Given the description of an element on the screen output the (x, y) to click on. 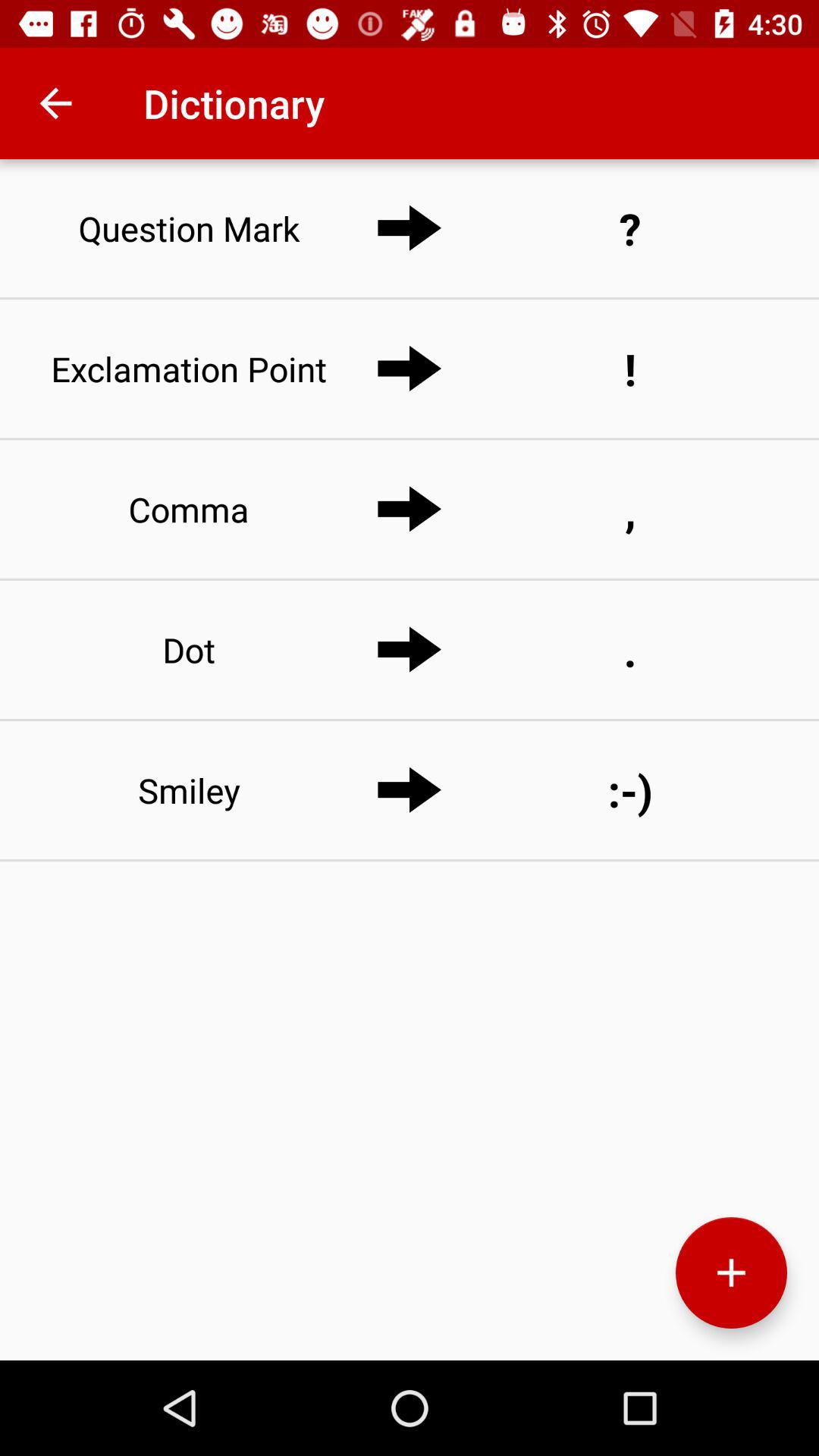
add element (731, 1272)
